Given the description of an element on the screen output the (x, y) to click on. 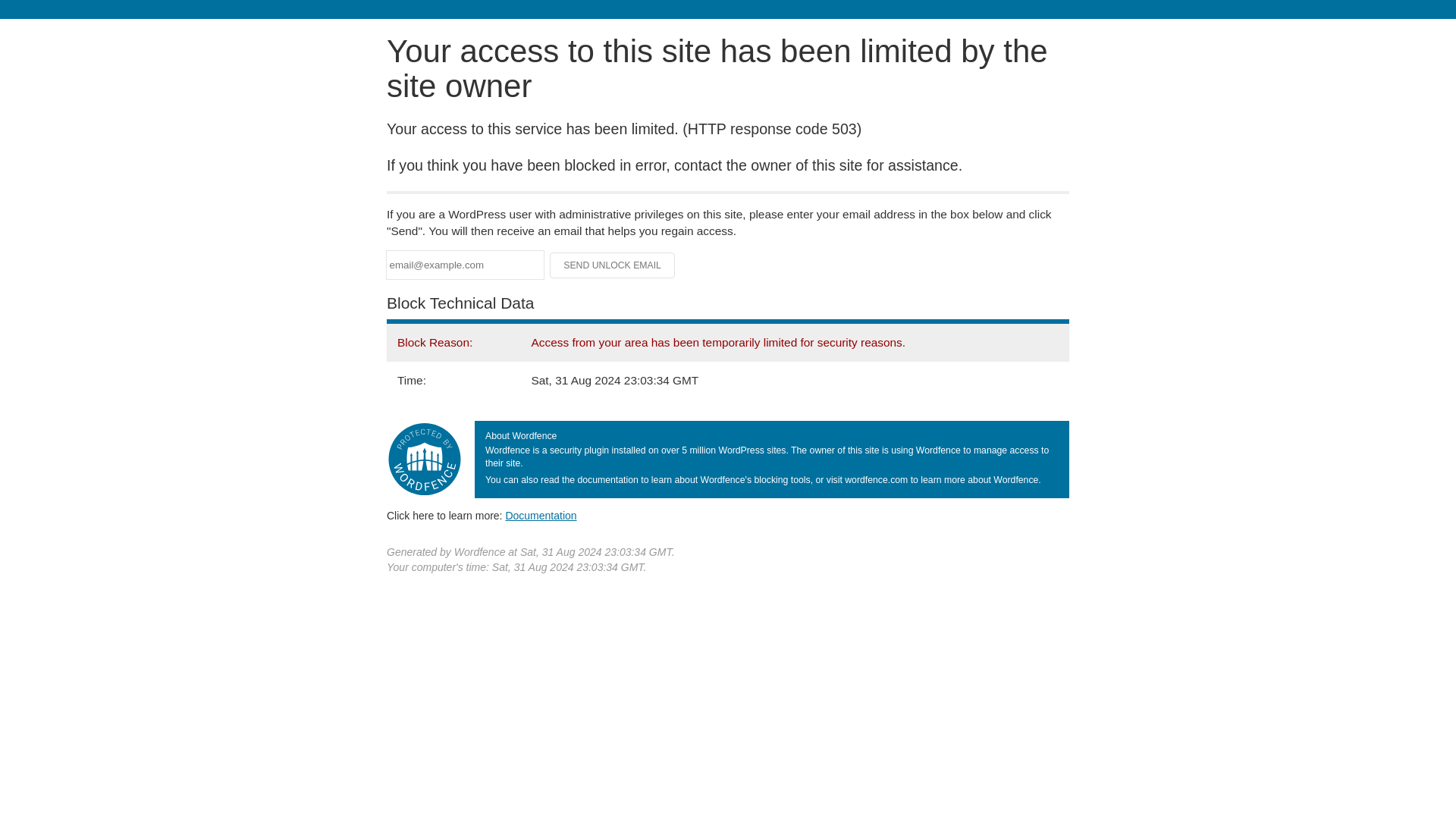
Send Unlock Email (612, 265)
Send Unlock Email (612, 265)
Documentation (540, 515)
